Given the description of an element on the screen output the (x, y) to click on. 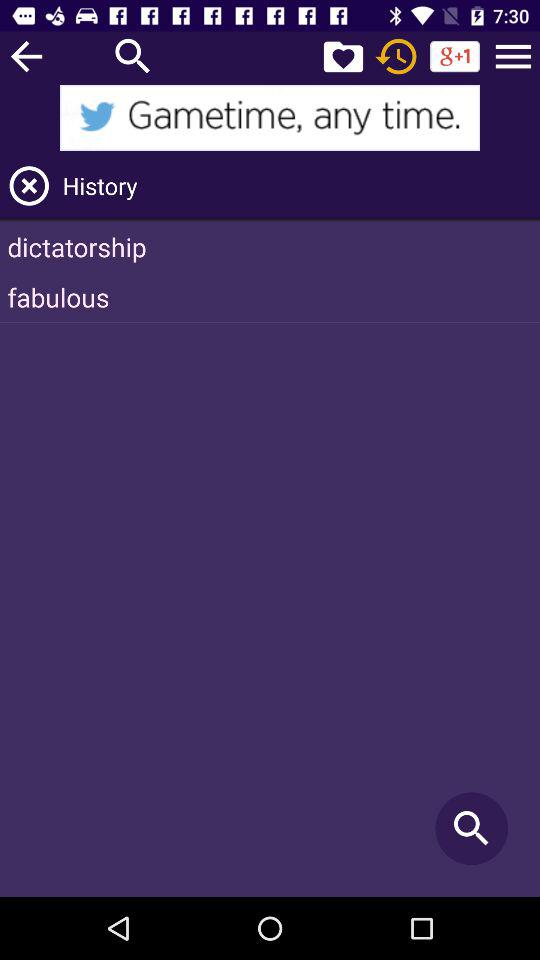
click on the search icon (133, 56)
